Given the description of an element on the screen output the (x, y) to click on. 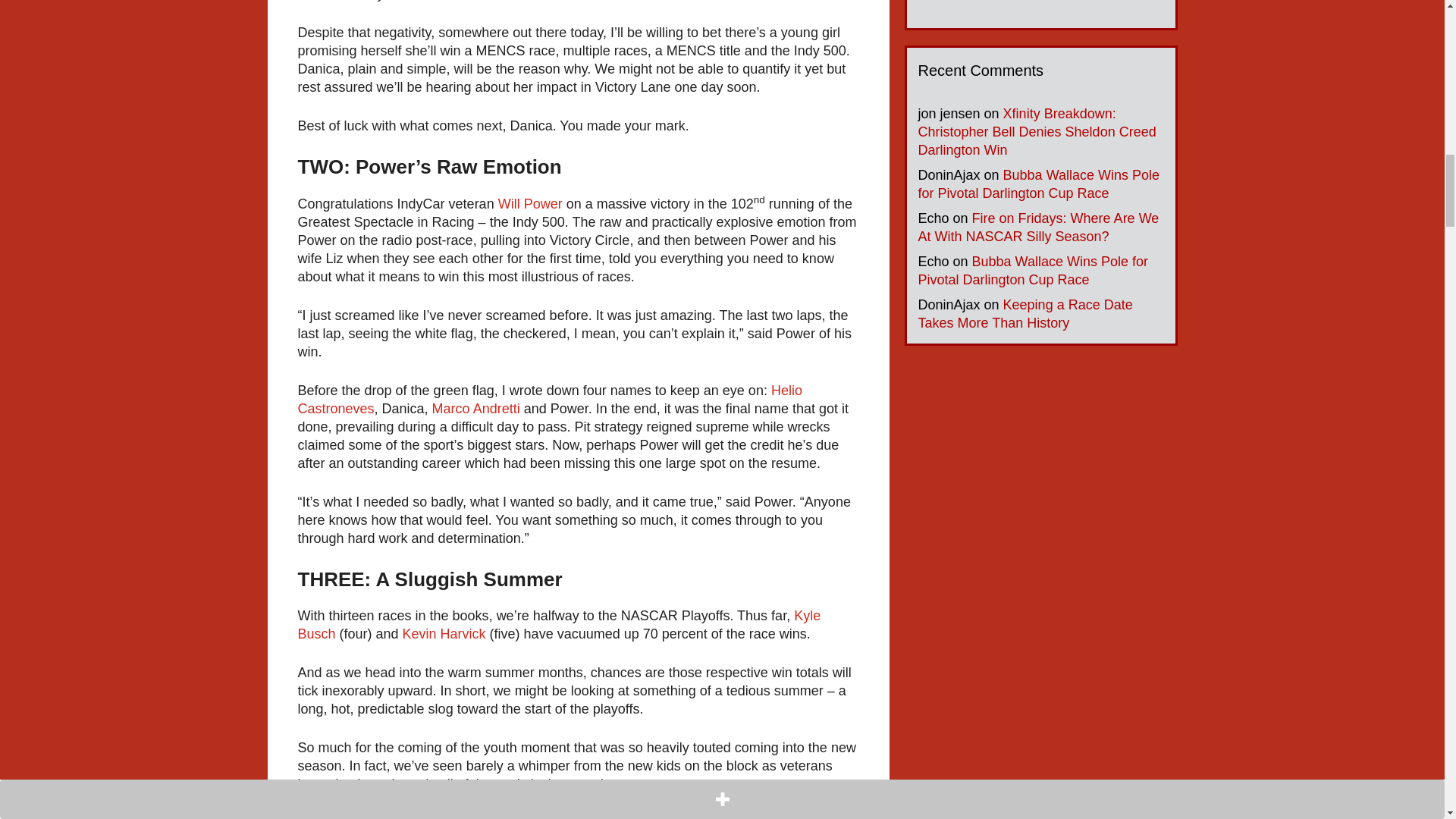
Marco Andretti (475, 408)
Kevin Harvick (444, 633)
Helio Castroneves (549, 399)
Kyle Busch (559, 624)
Will Power (529, 203)
